Given the description of an element on the screen output the (x, y) to click on. 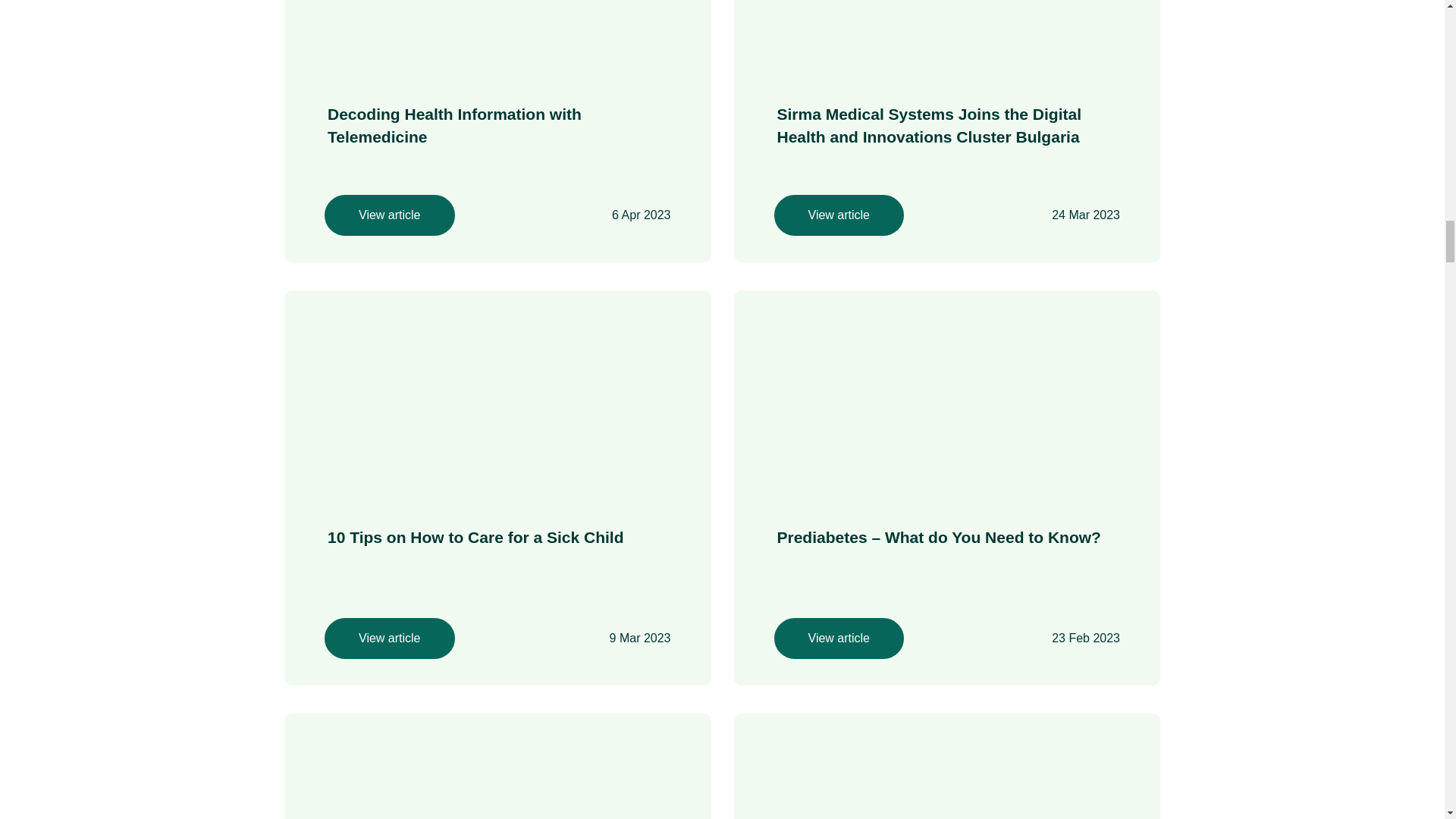
View article (389, 638)
View article (838, 638)
View article (838, 214)
View article (389, 214)
